Given the description of an element on the screen output the (x, y) to click on. 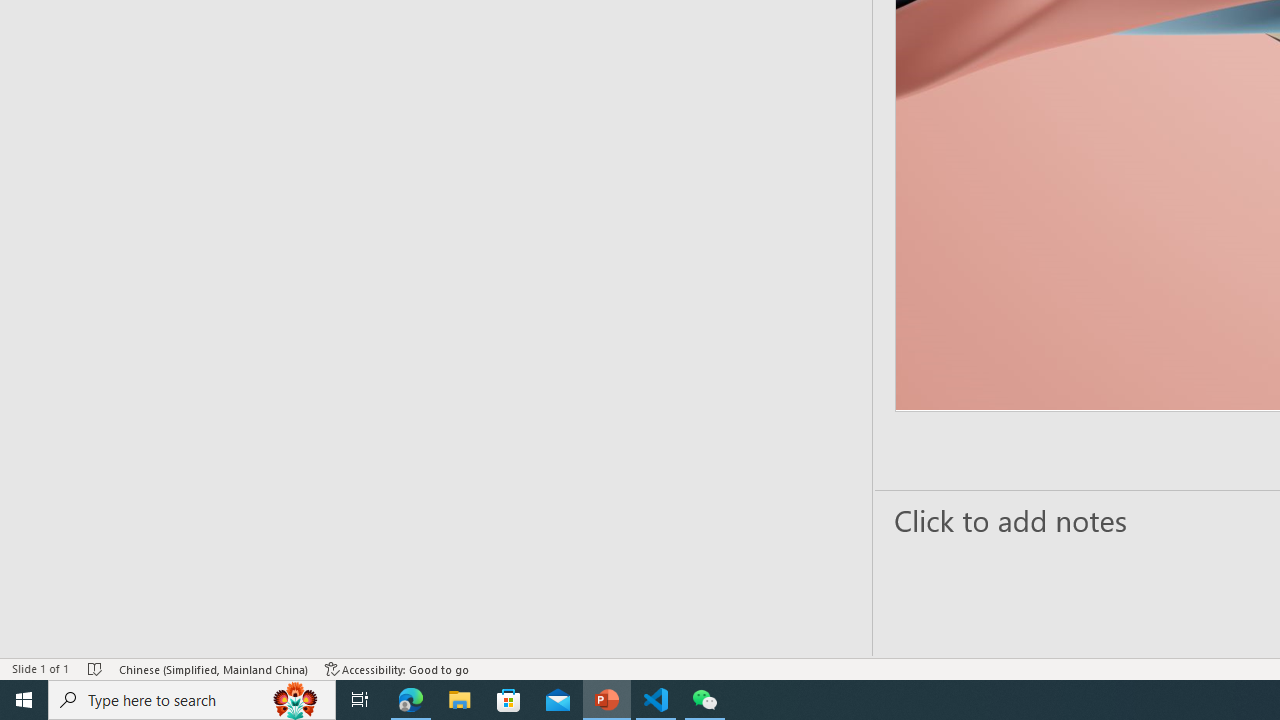
Accessibility Checker Accessibility: Good to go (397, 668)
